Given the description of an element on the screen output the (x, y) to click on. 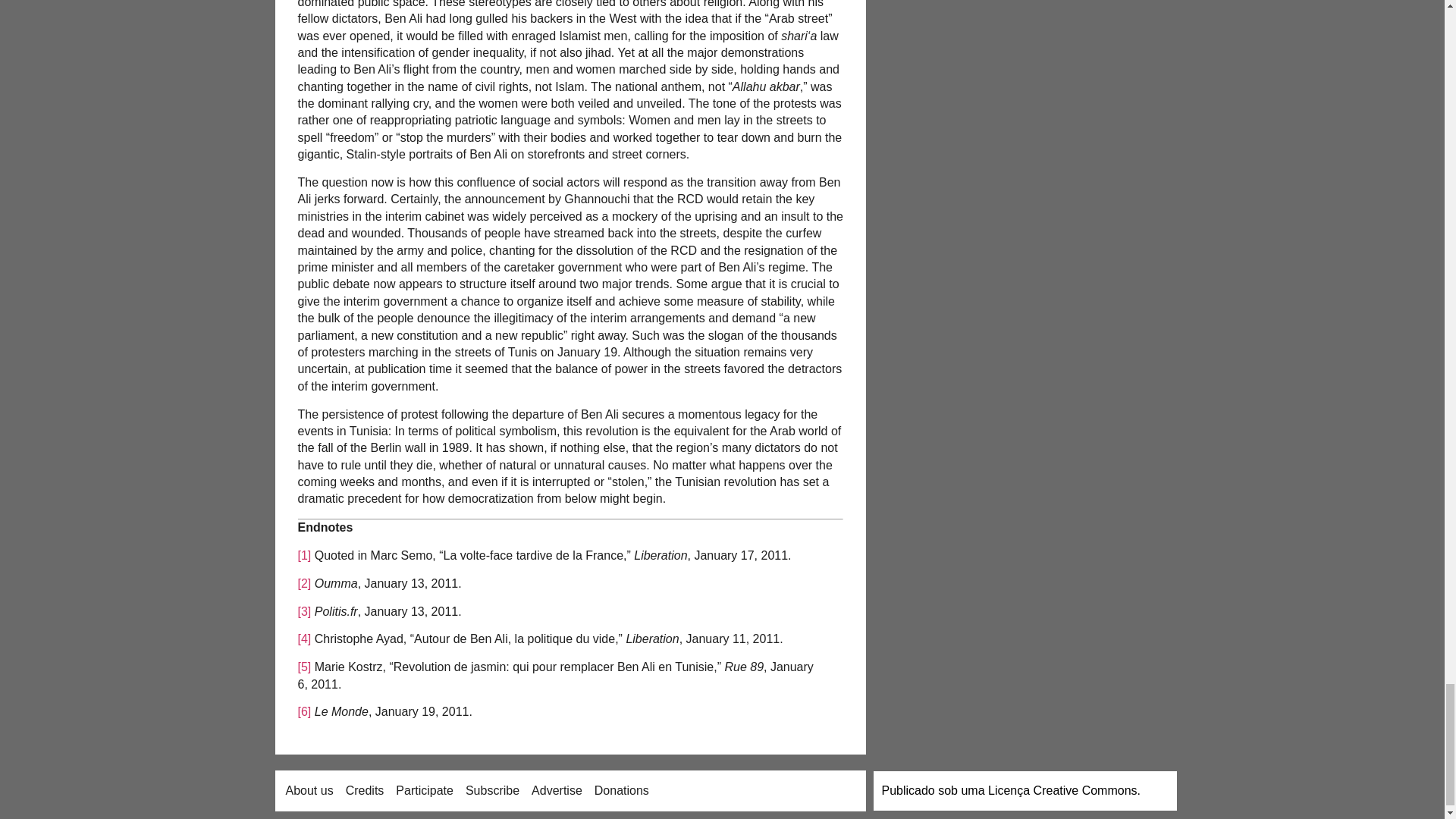
About us (309, 790)
